Given the description of an element on the screen output the (x, y) to click on. 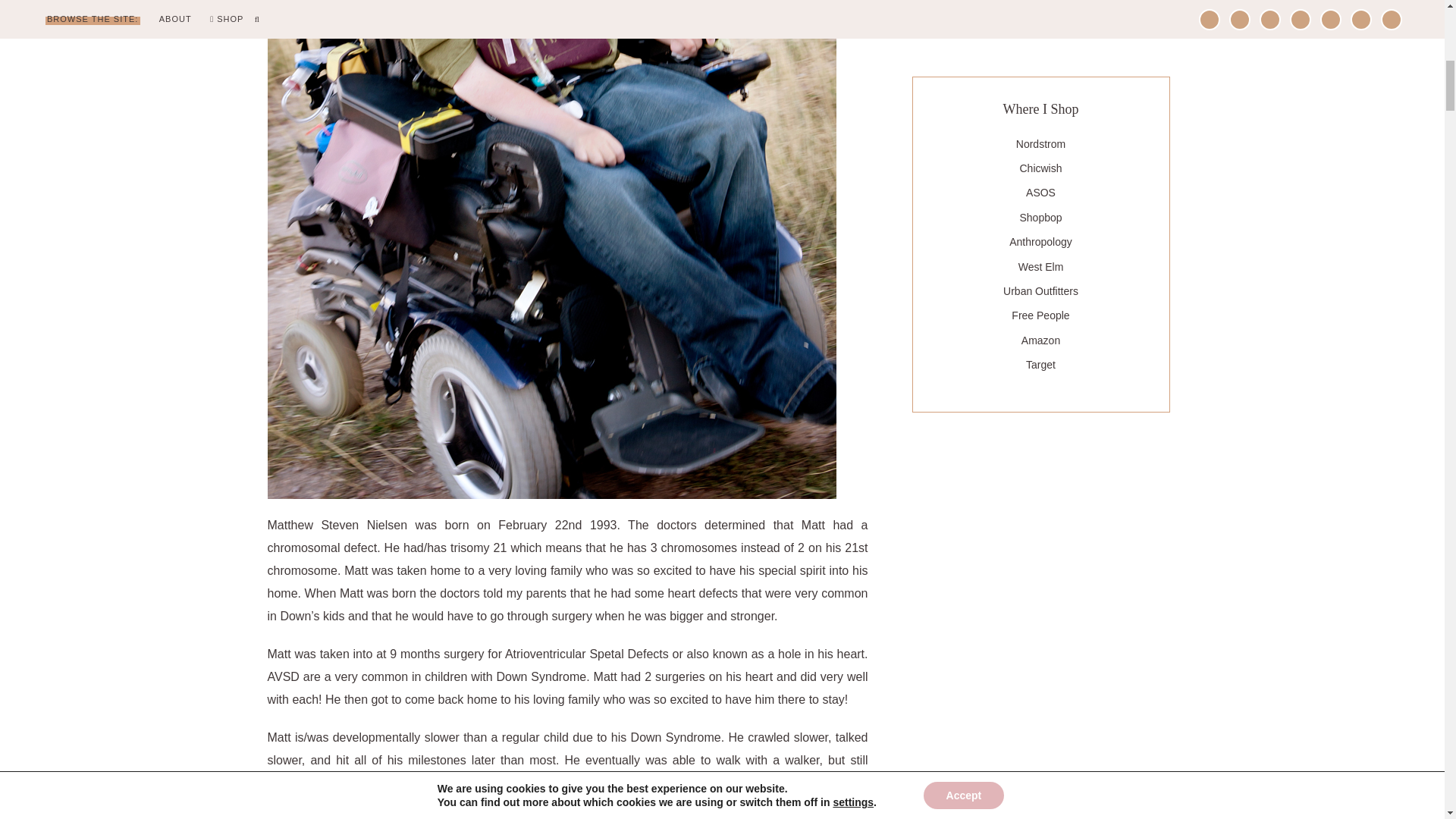
YouTube (1113, 18)
Twitter (1089, 18)
Pinterest (1064, 18)
Email (992, 18)
Instagram (1040, 18)
Facebook (1016, 18)
Bloglovin (968, 18)
